Given the description of an element on the screen output the (x, y) to click on. 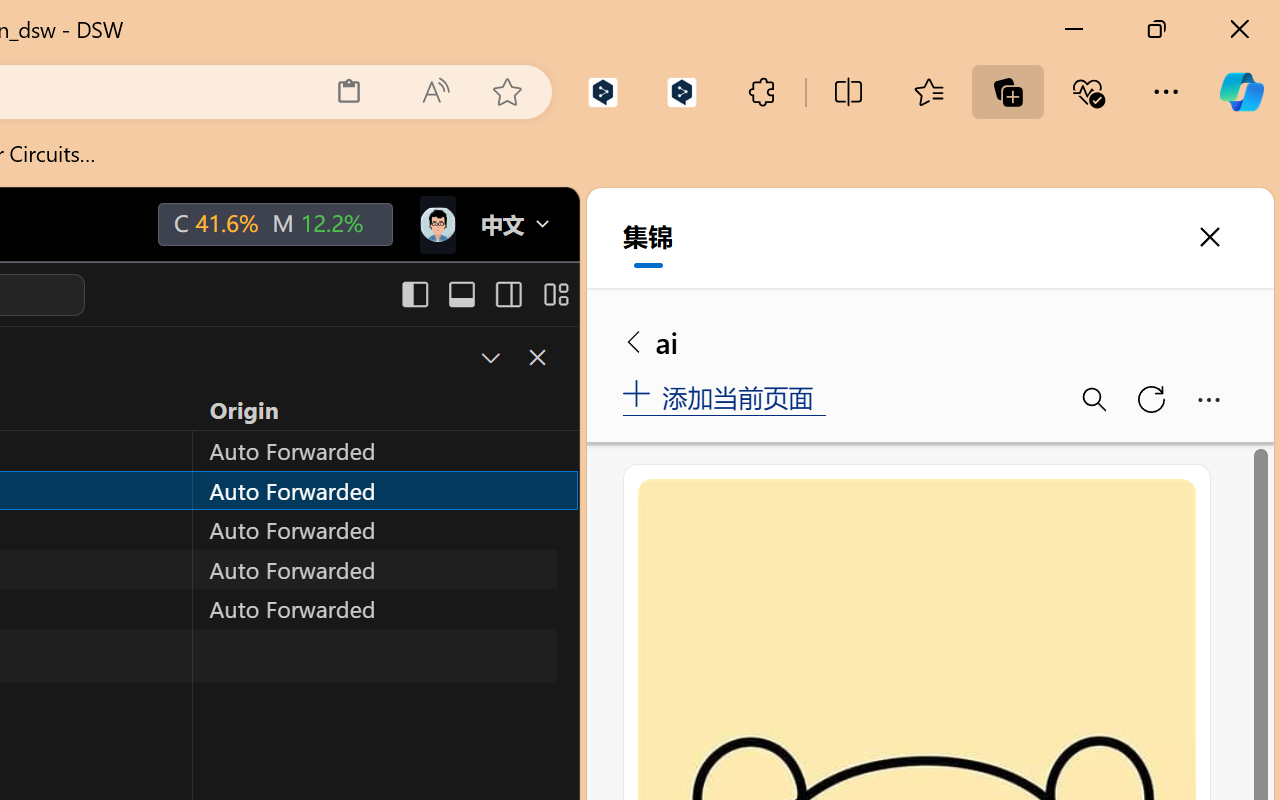
icon (436, 220)
Title actions (484, 294)
Restore Panel Size (488, 357)
Toggle Panel (Ctrl+J) (461, 294)
Customize Layout... (553, 294)
